Given the description of an element on the screen output the (x, y) to click on. 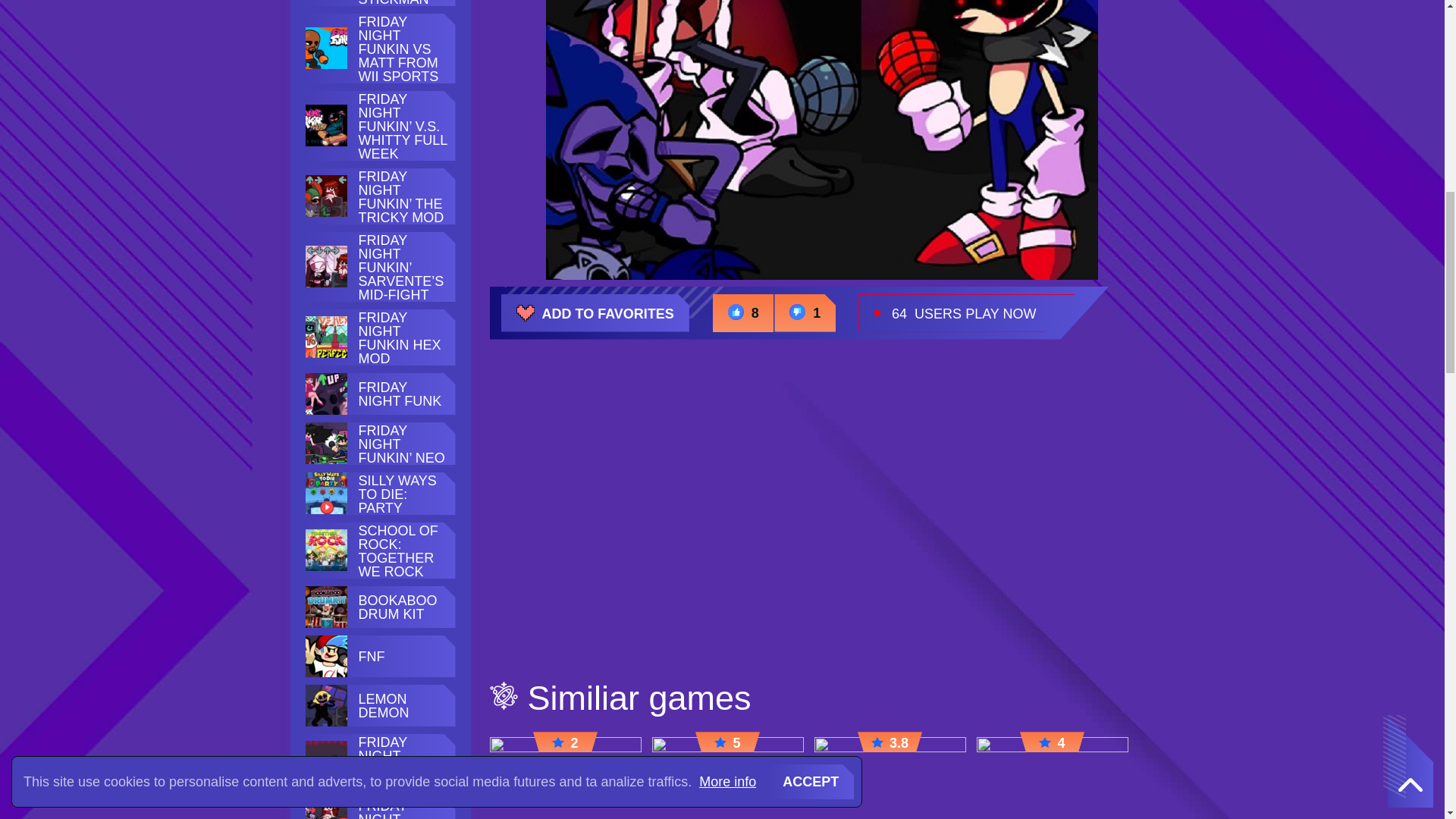
Favorites (594, 313)
BOOKABOO DRUM KIT (402, 606)
FRIDAY NIGHT FUNKIN HEX MOD (402, 338)
FRIDAY NIGHT FUNKIN 3 (402, 809)
Advertisement (822, 521)
LEMON DEMON (402, 705)
SCHOOL OF ROCK: TOGETHER WE ROCK (402, 551)
SILLY WAYS TO DIE: PARTY (402, 494)
FRIDAY NIGHT FUNKIN GIRLFRIEND (402, 762)
FRIDAY NIGHT FUNKIN VS HENRY THE STICKMAN (402, 2)
